Given the description of an element on the screen output the (x, y) to click on. 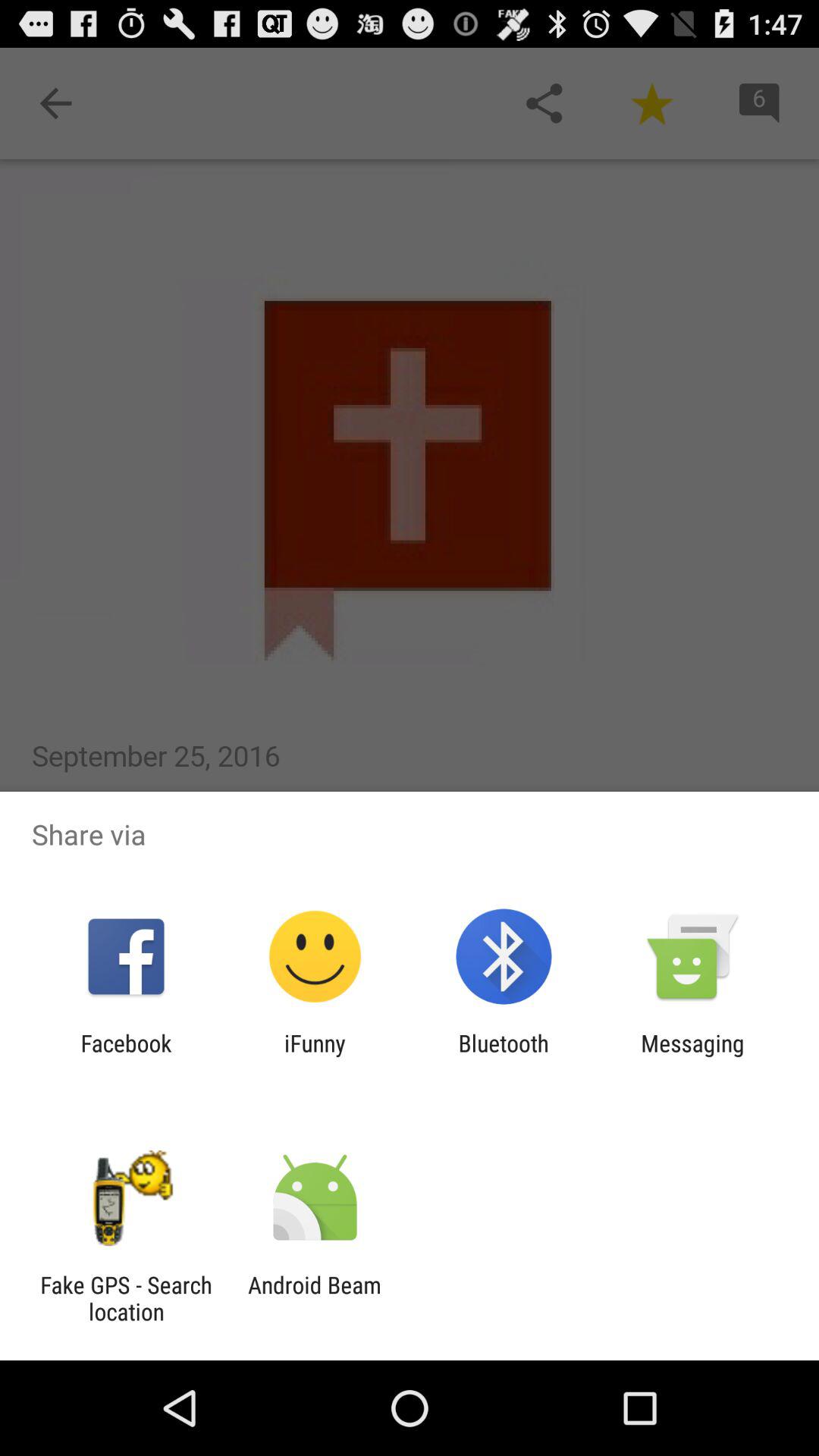
scroll to the facebook item (125, 1056)
